Given the description of an element on the screen output the (x, y) to click on. 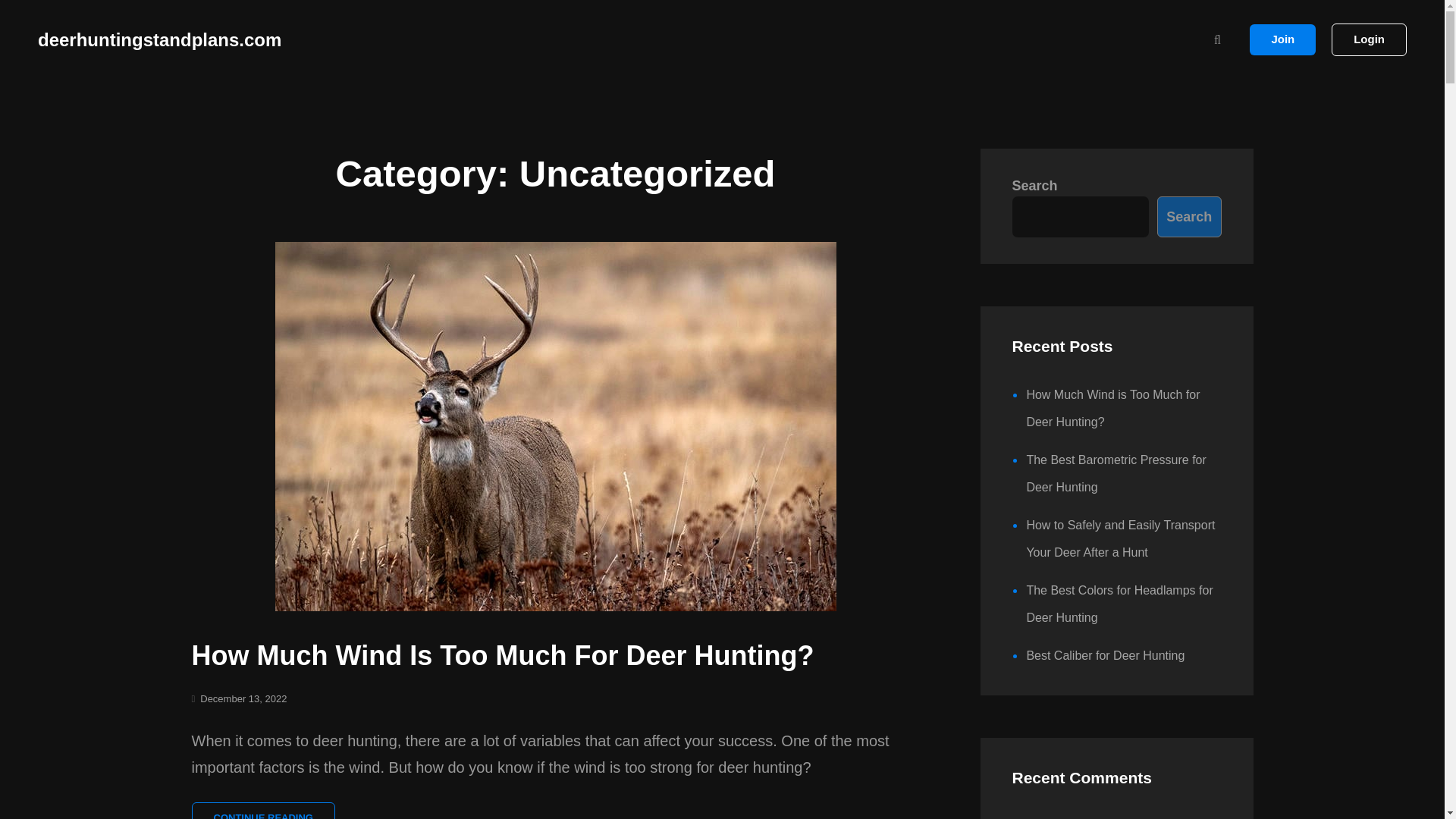
SEARCH (1216, 39)
December 13, 2022 (243, 698)
Login (1369, 39)
Join (262, 810)
deerhuntingstandplans.com (1282, 39)
How Much Wind Is Too Much For Deer Hunting? (159, 38)
